Given the description of an element on the screen output the (x, y) to click on. 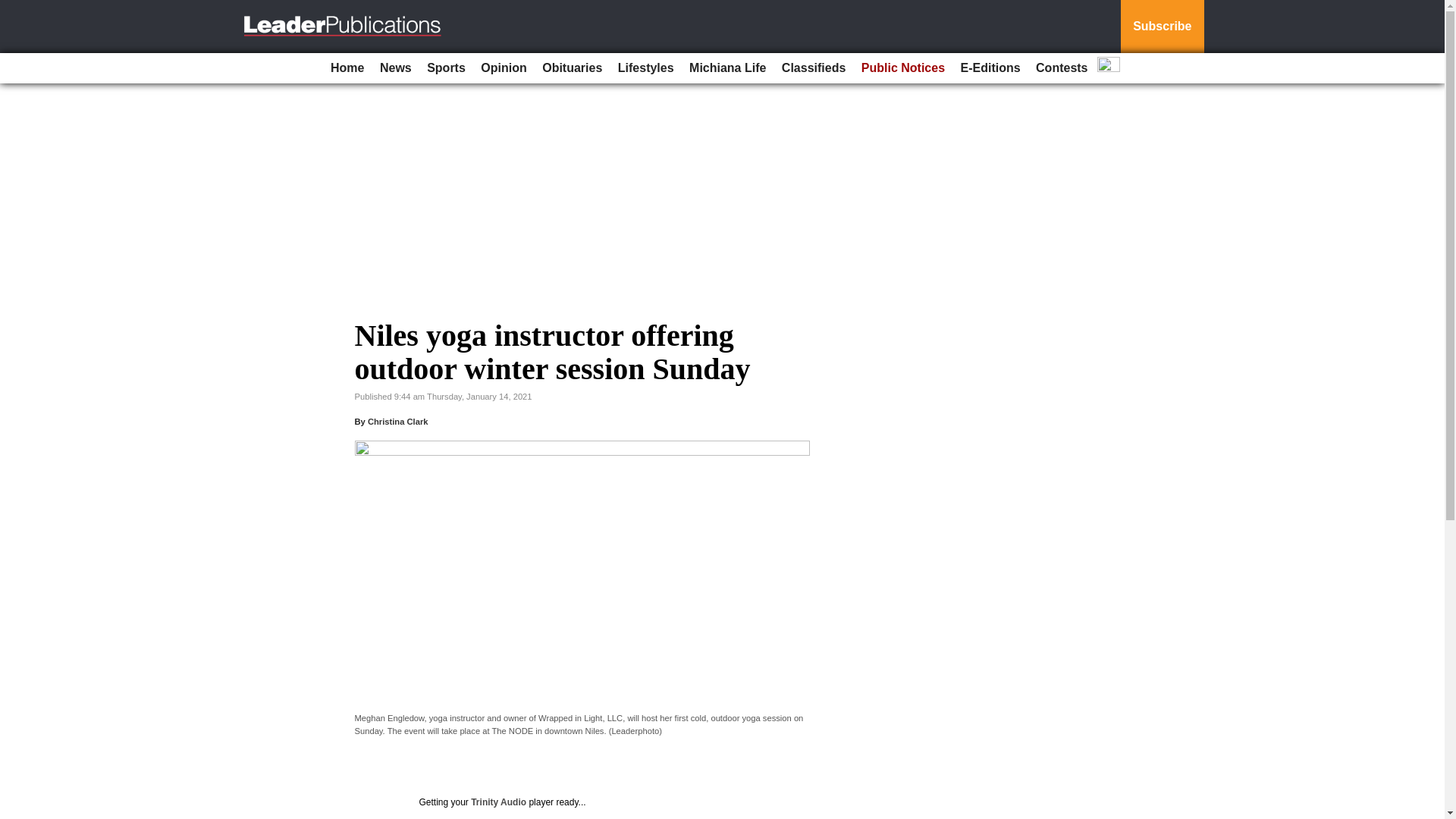
Trinity Audio (497, 801)
Public Notices (903, 68)
Classifieds (813, 68)
Go (13, 9)
News (395, 68)
Subscribe (1162, 26)
Michiana Life (726, 68)
Home (346, 68)
Lifestyles (645, 68)
E-Editions (989, 68)
